Given the description of an element on the screen output the (x, y) to click on. 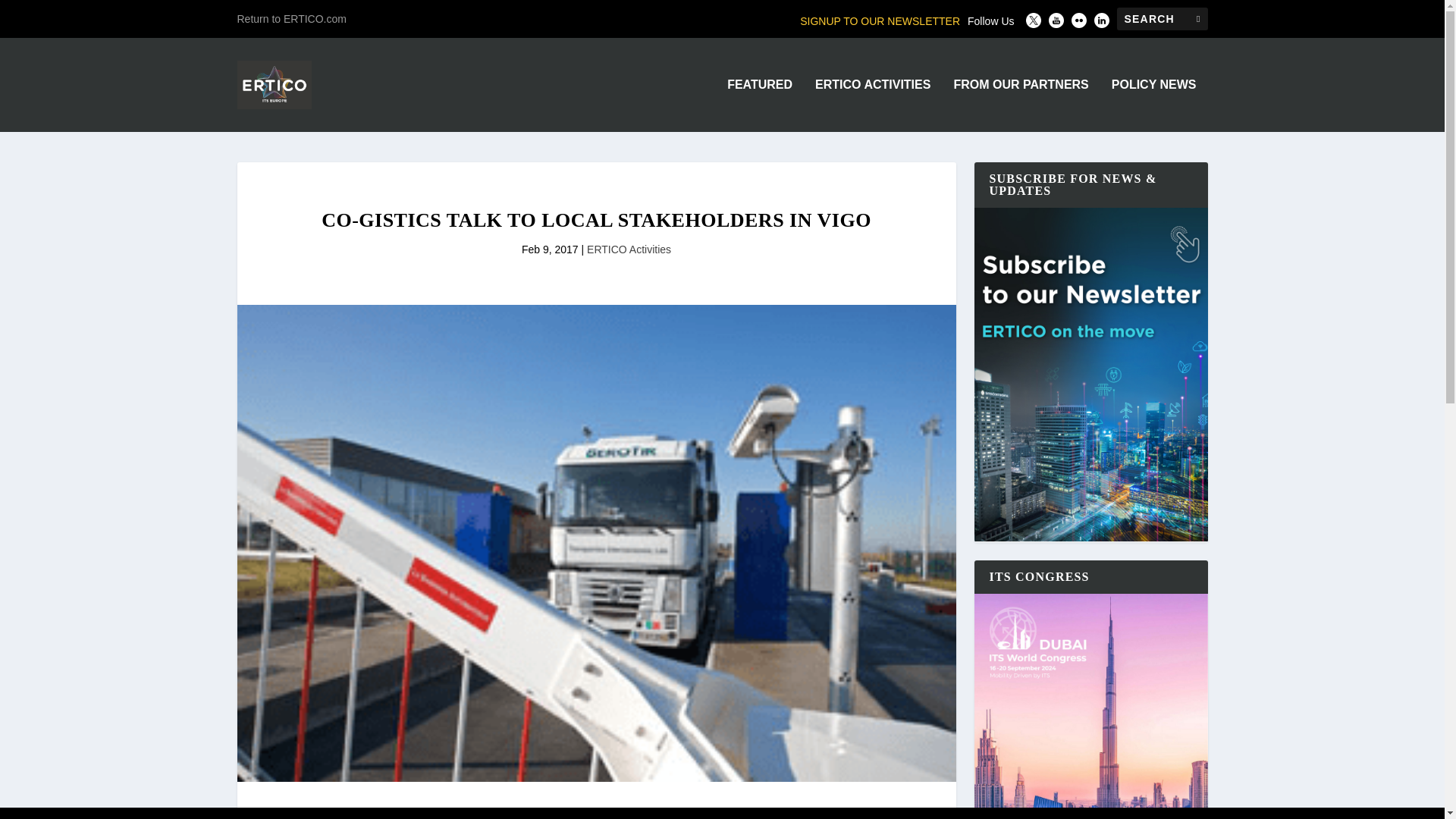
POLICY NEWS (1154, 104)
SIGNUP TO OUR NEWSLETTER (879, 21)
Search for: (1161, 18)
ERTICO Activities (628, 249)
FEATURED (759, 104)
FROM OUR PARTNERS (1020, 104)
Return to ERTICO.com (290, 18)
ERTICO ACTIVITIES (872, 104)
